Given the description of an element on the screen output the (x, y) to click on. 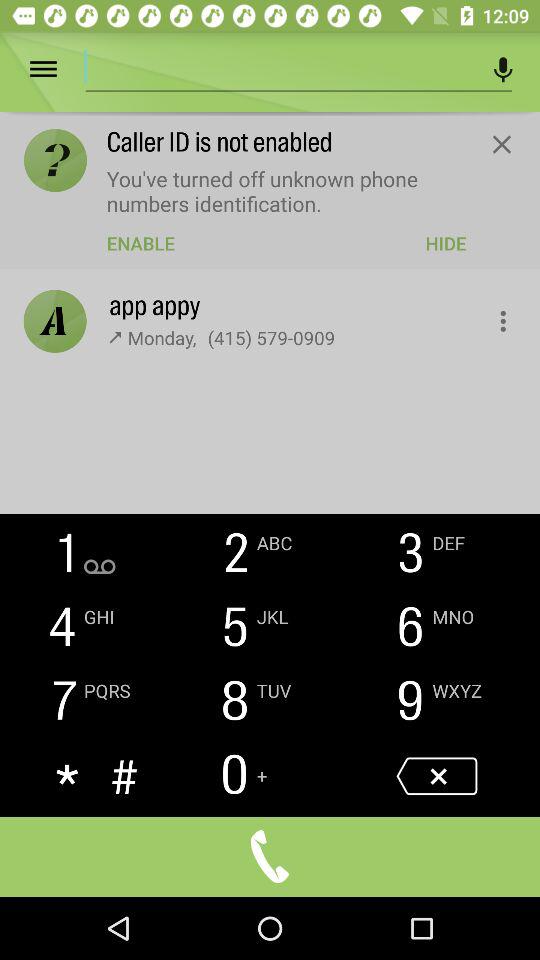
go to customize (492, 315)
